Given the description of an element on the screen output the (x, y) to click on. 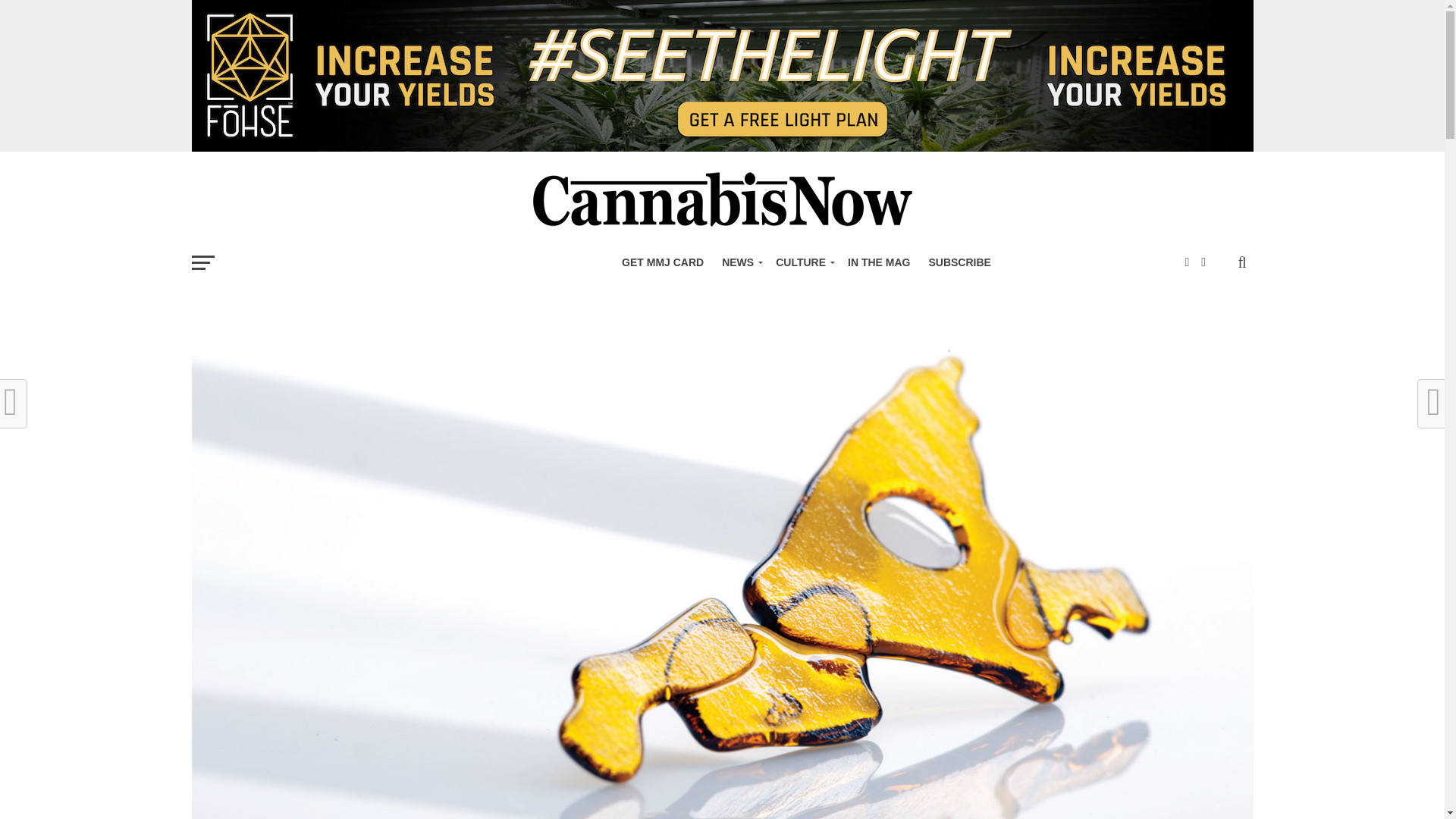
GET MMJ CARD (662, 262)
